Given the description of an element on the screen output the (x, y) to click on. 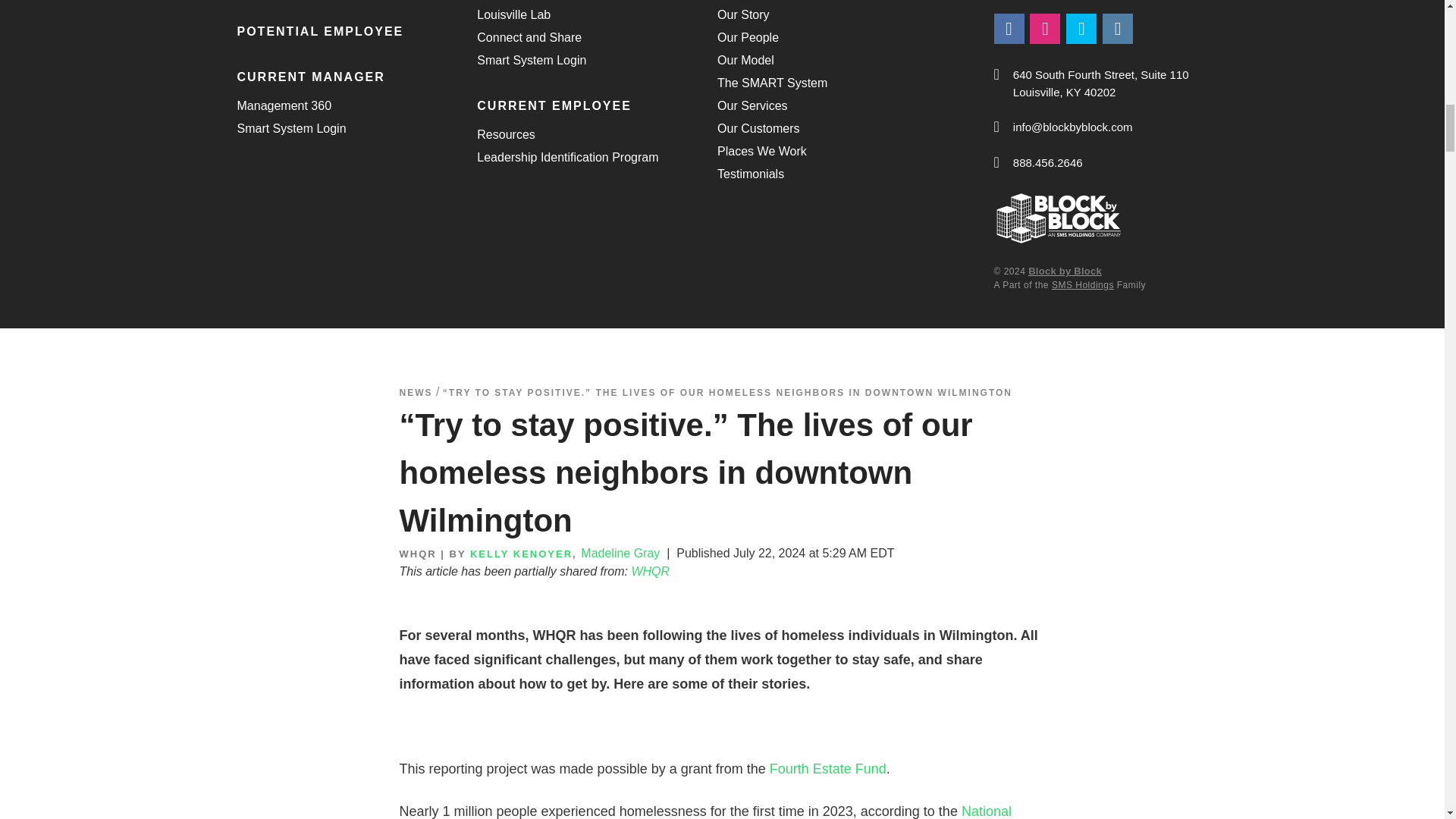
Smart System Login (531, 60)
Smart System Login (290, 128)
CURRENT MANAGER (356, 76)
Leadership Identification Program (567, 157)
CURRENT EMPLOYEE (597, 106)
Connect and Share (528, 37)
POTENTIAL EMPLOYEE (356, 31)
Louisville Lab (513, 14)
Resources (505, 135)
Management 360 (283, 106)
